Given the description of an element on the screen output the (x, y) to click on. 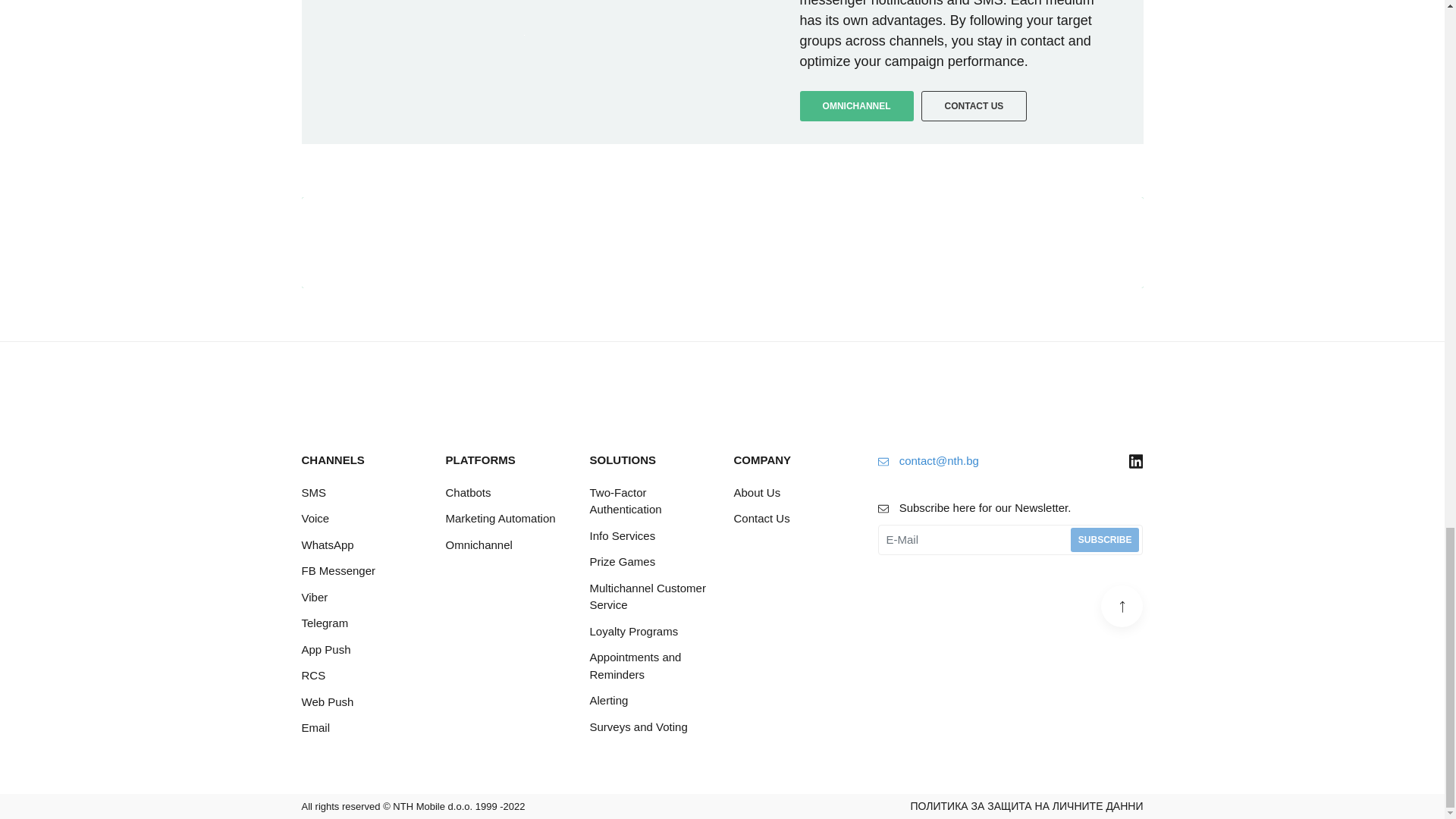
CONTACT US (974, 105)
CHANNELS (362, 460)
SMS (362, 493)
CONTACT US (1044, 242)
OMNICHANNEL (856, 105)
